Given the description of an element on the screen output the (x, y) to click on. 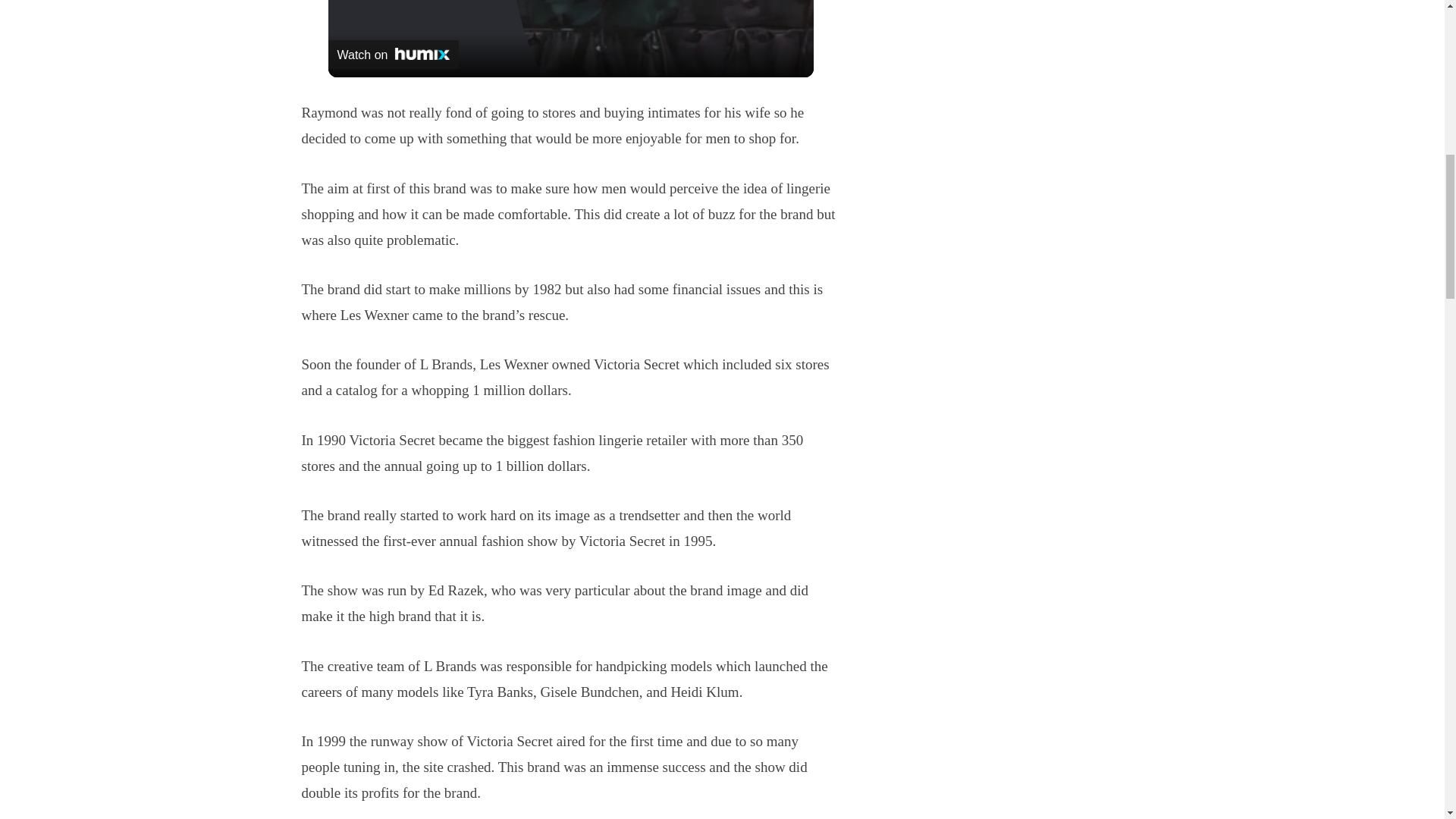
Watch on (392, 54)
